Given the description of an element on the screen output the (x, y) to click on. 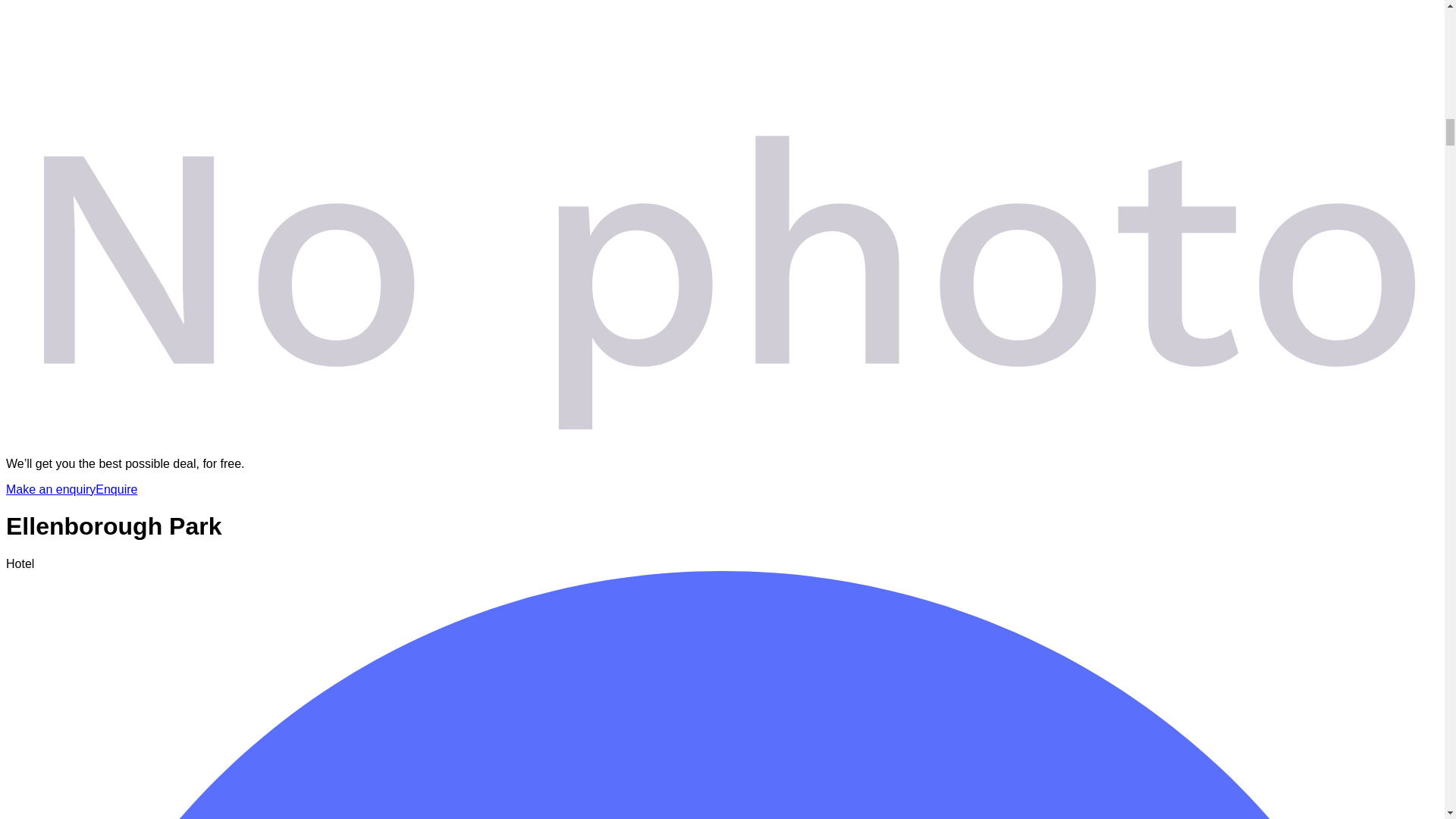
Make an enquiryEnquire (70, 489)
